Given the description of an element on the screen output the (x, y) to click on. 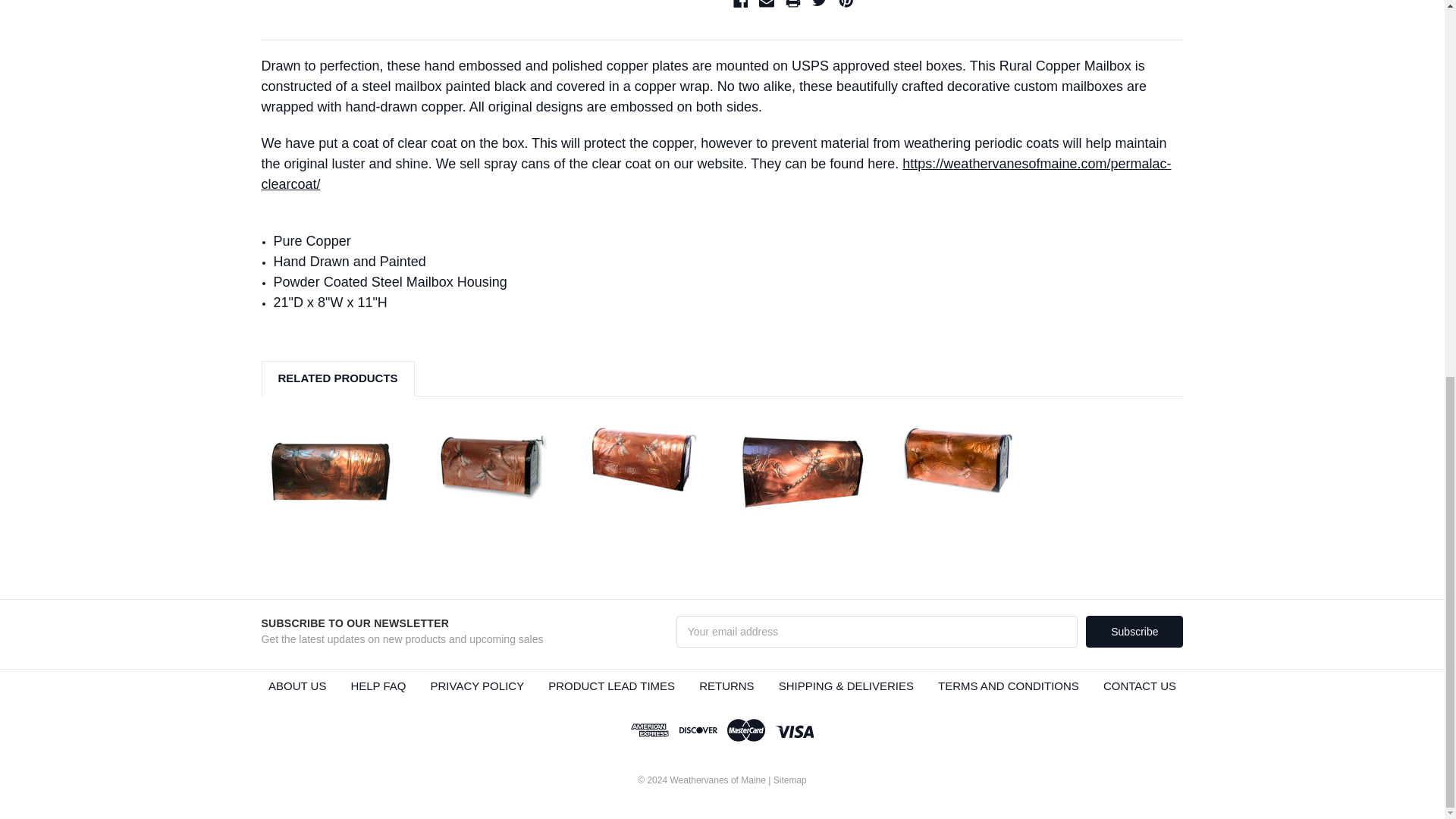
Dragonfly Copper Mailbox (488, 459)
Frog and Dragonflies Mailbox  (330, 465)
Peaceful Dragonfly Mailbox  (799, 465)
Dragonfly and Pine Mailbox  (956, 460)
Summer Dragonflies Mailbox  (643, 459)
Subscribe (1134, 631)
